Given the description of an element on the screen output the (x, y) to click on. 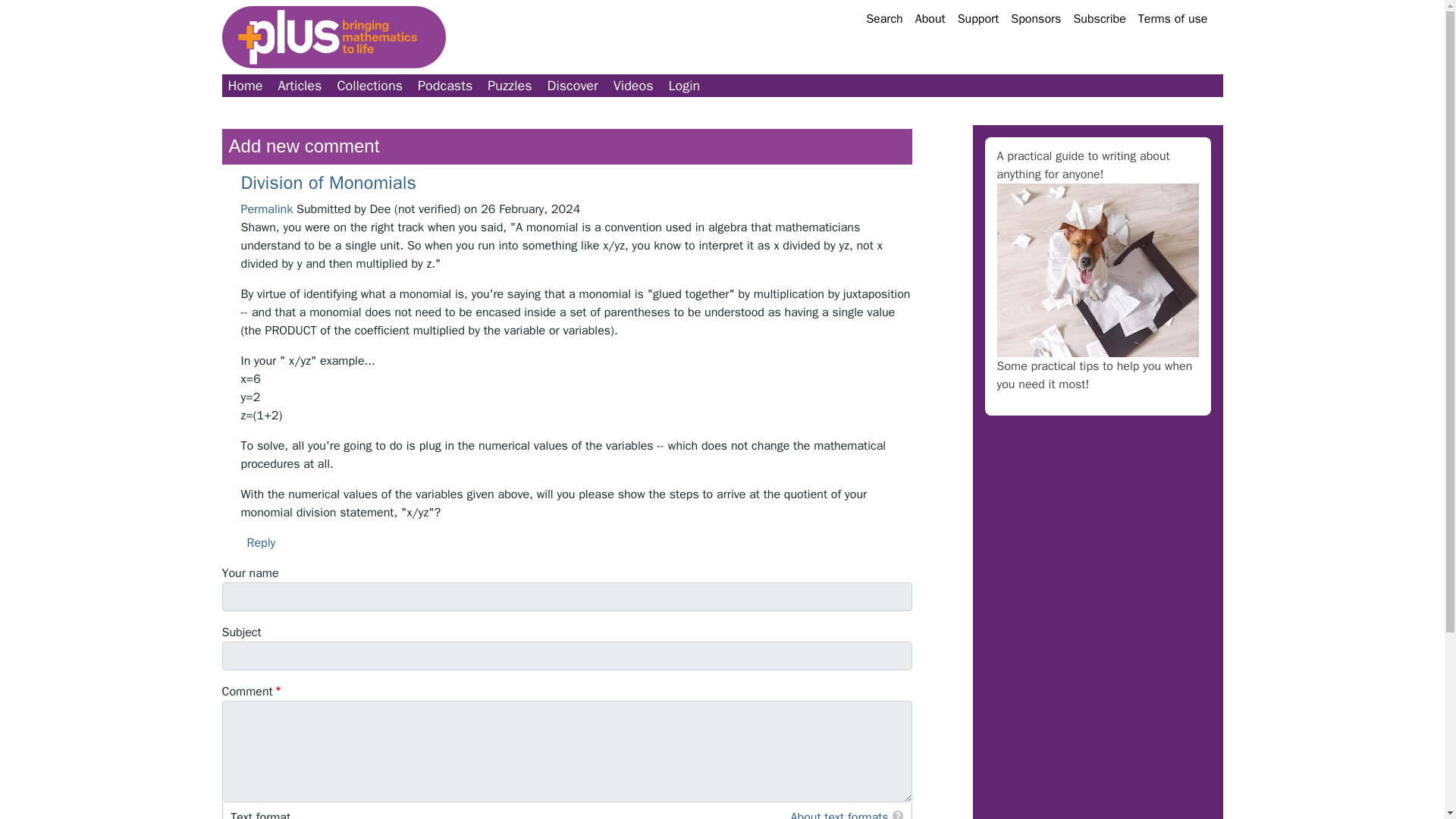
Search (884, 18)
A practical guide to writing about anything for anyone! (1082, 164)
Support (979, 18)
Subscribe (1099, 18)
Collections (369, 85)
Book film and other reviews (572, 85)
Reply (261, 542)
Discover (572, 85)
Videos (633, 85)
About (930, 18)
Permalink (267, 209)
Podcasts (445, 85)
Login (684, 85)
Podcasts (445, 85)
About text formats (839, 814)
